Given the description of an element on the screen output the (x, y) to click on. 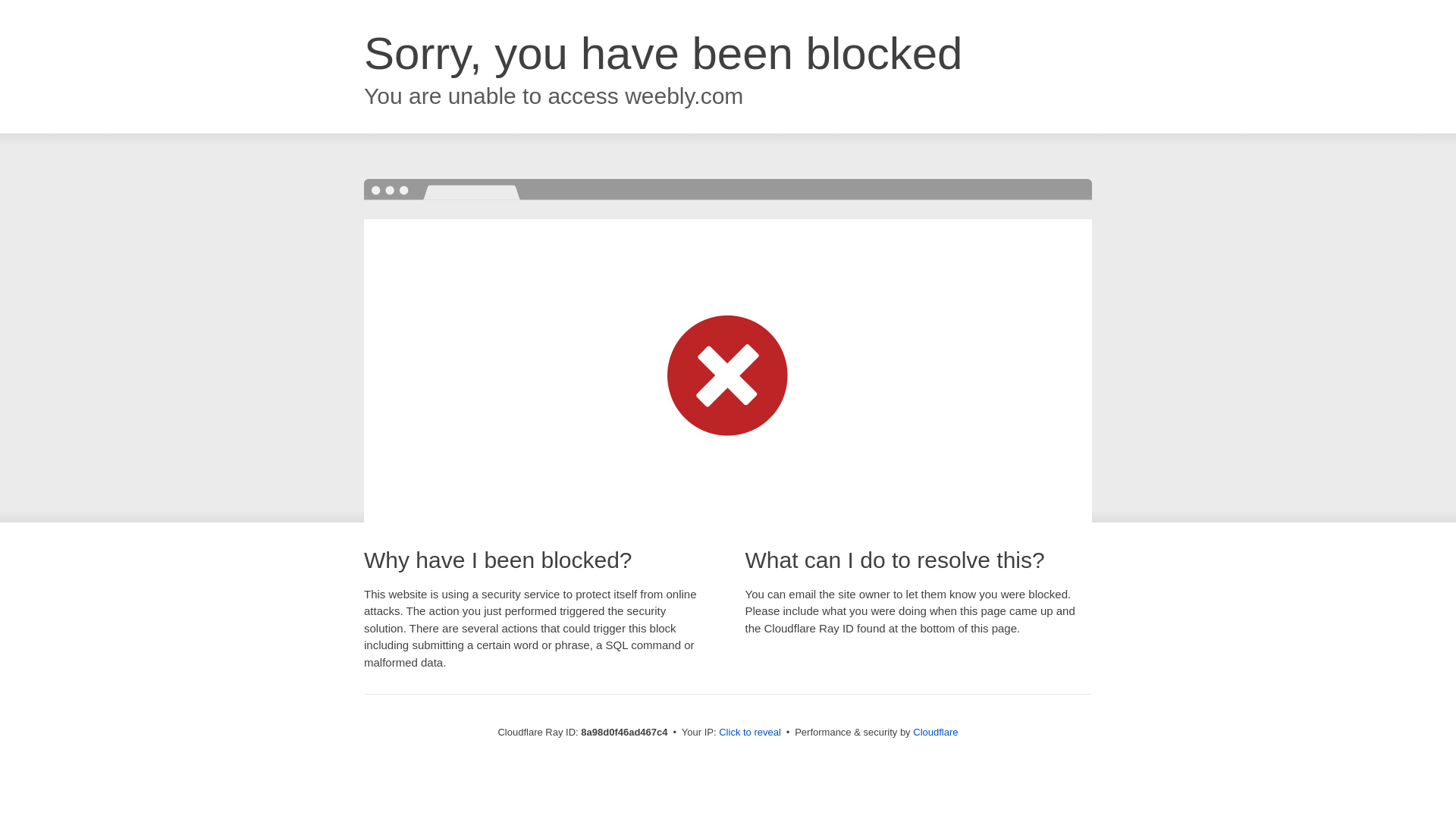
Cloudflare (935, 731)
Click to reveal (749, 732)
